Given the description of an element on the screen output the (x, y) to click on. 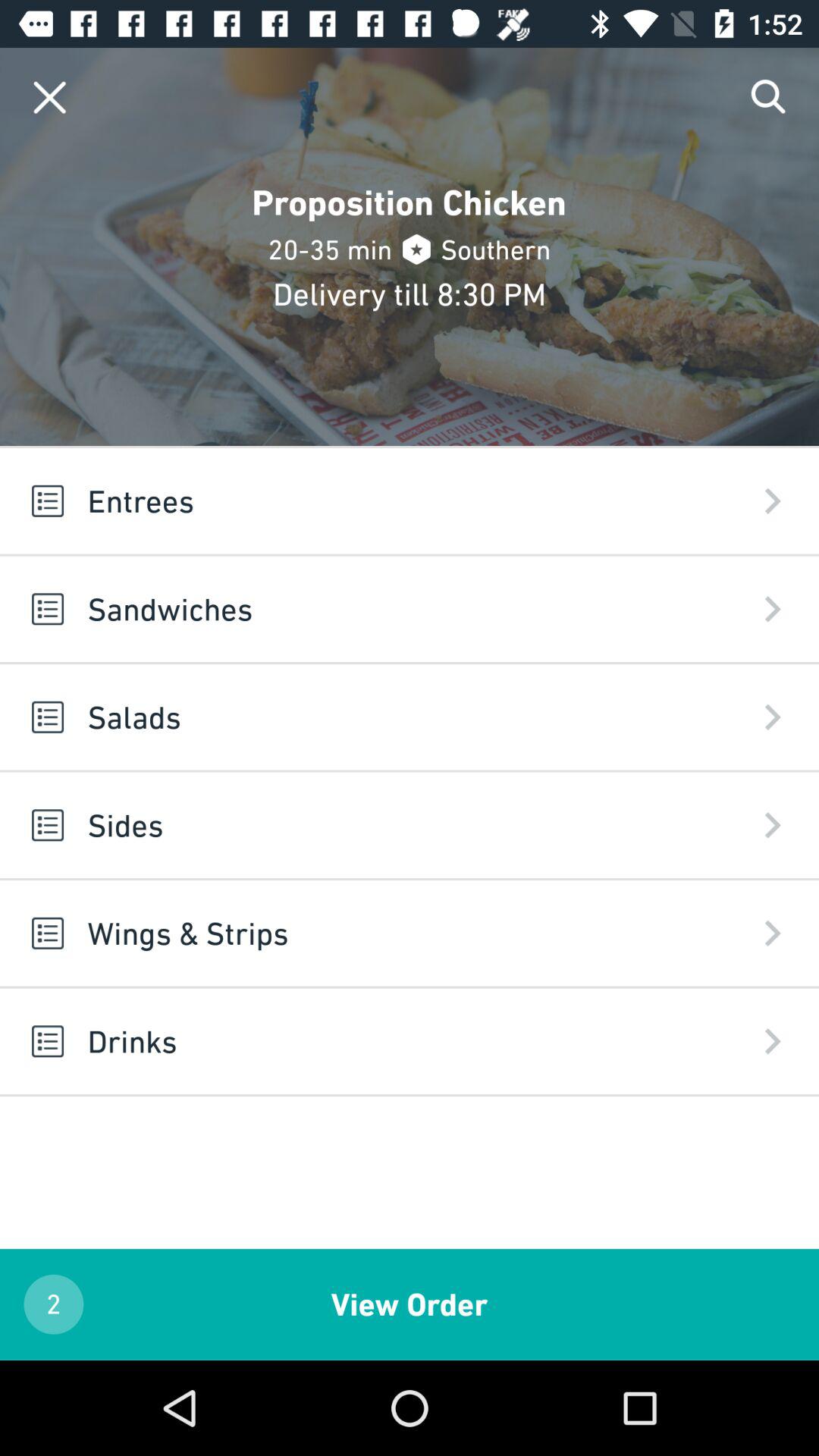
search (769, 97)
